Given the description of an element on the screen output the (x, y) to click on. 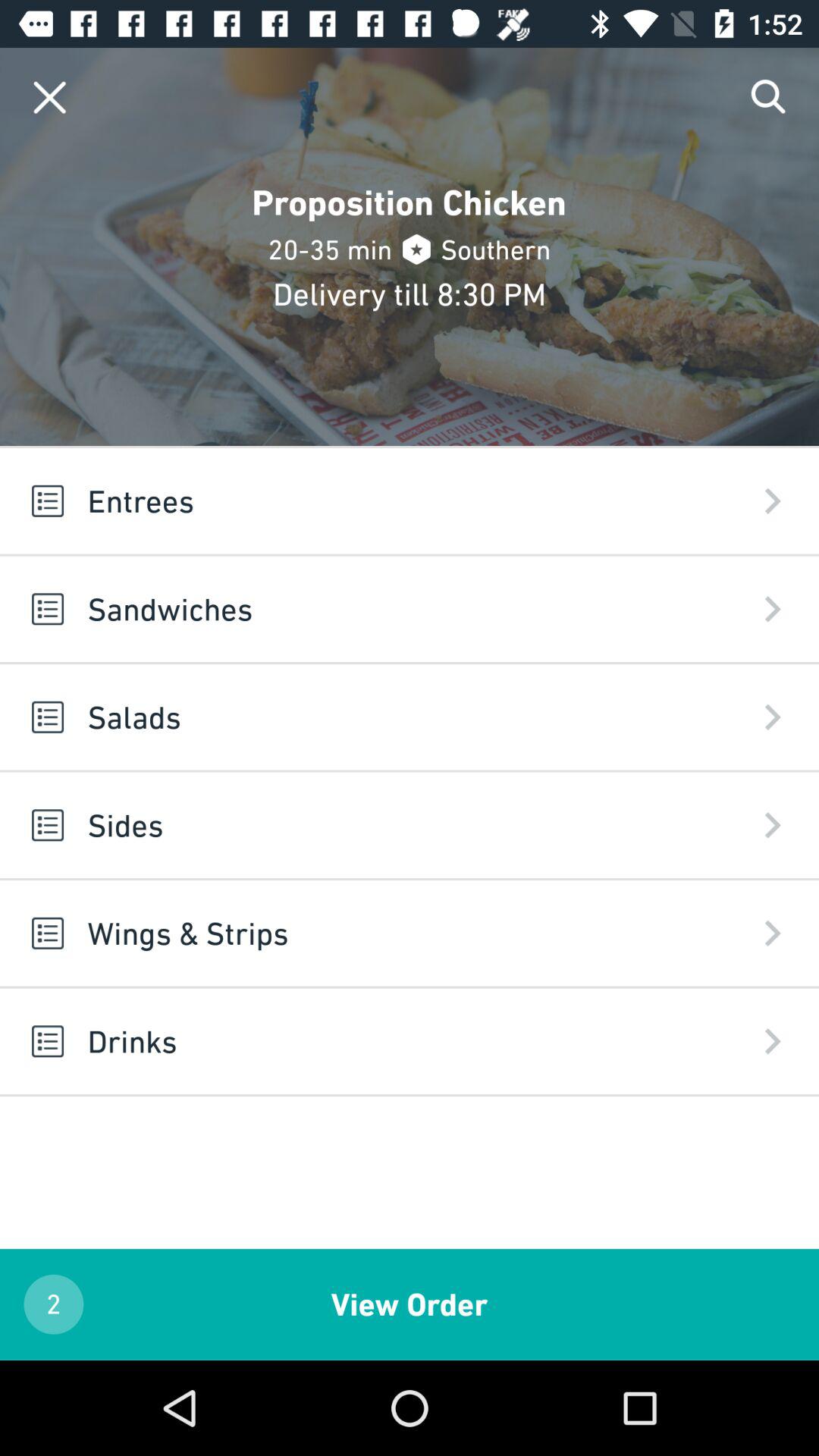
search (769, 97)
